Given the description of an element on the screen output the (x, y) to click on. 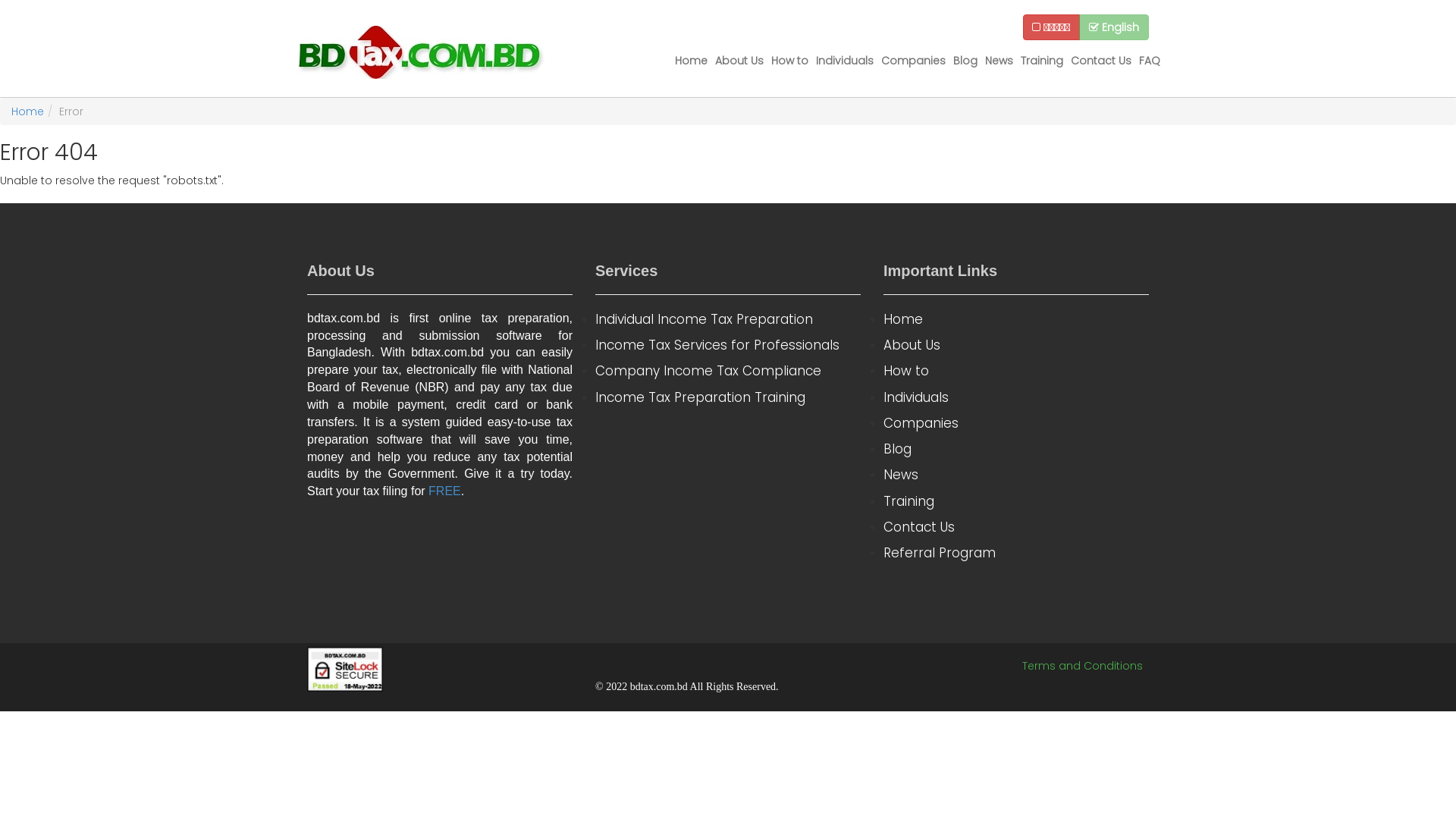
Training Element type: text (1015, 501)
News Element type: text (998, 60)
Contact Us Element type: text (1100, 60)
Contact Us Element type: text (1015, 526)
Companies Element type: text (1015, 423)
Blog Element type: text (965, 60)
Income Tax Services for Professionals Element type: text (727, 344)
FAQ Element type: text (1149, 60)
Company Income Tax Compliance Element type: text (727, 370)
Companies Element type: text (913, 60)
Individual Income Tax Preparation Element type: text (727, 319)
How to Element type: text (1015, 370)
About Us Element type: text (739, 60)
Home Element type: text (691, 60)
Home Element type: text (1015, 319)
Terms and Conditions Element type: text (1082, 665)
News Element type: text (1015, 474)
How to Element type: text (789, 60)
Blog Element type: text (1015, 448)
Referral Program Element type: text (1015, 552)
About Us Element type: text (1015, 344)
Income Tax Preparation Training Element type: text (727, 397)
FREE Element type: text (444, 490)
Home Element type: text (27, 111)
Individuals Element type: text (844, 60)
Individuals Element type: text (1015, 397)
Training Element type: text (1041, 60)
